Given the description of an element on the screen output the (x, y) to click on. 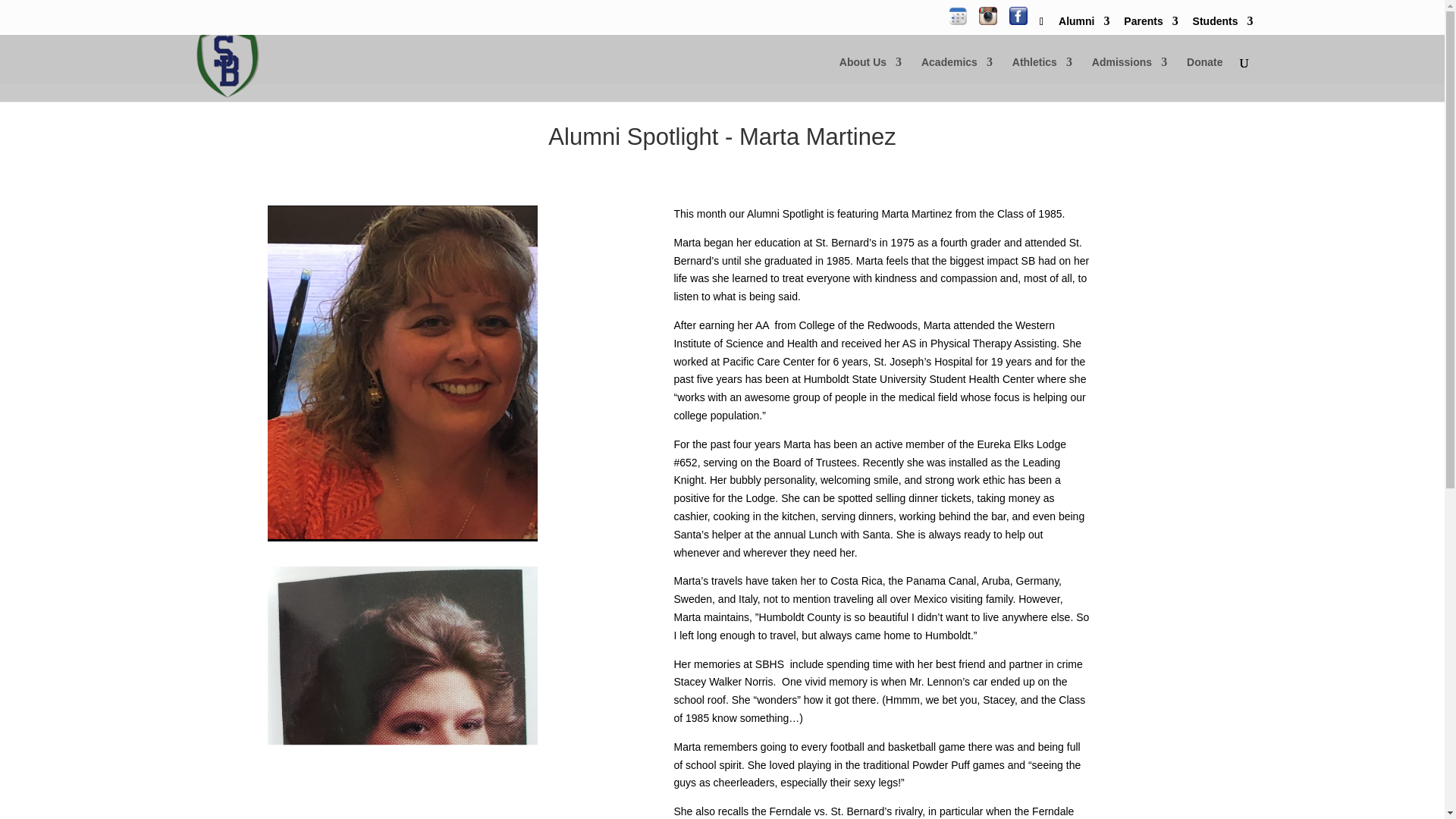
Parents (1150, 24)
Alumni (1083, 24)
Students (1222, 24)
About Us (870, 78)
